Given the description of an element on the screen output the (x, y) to click on. 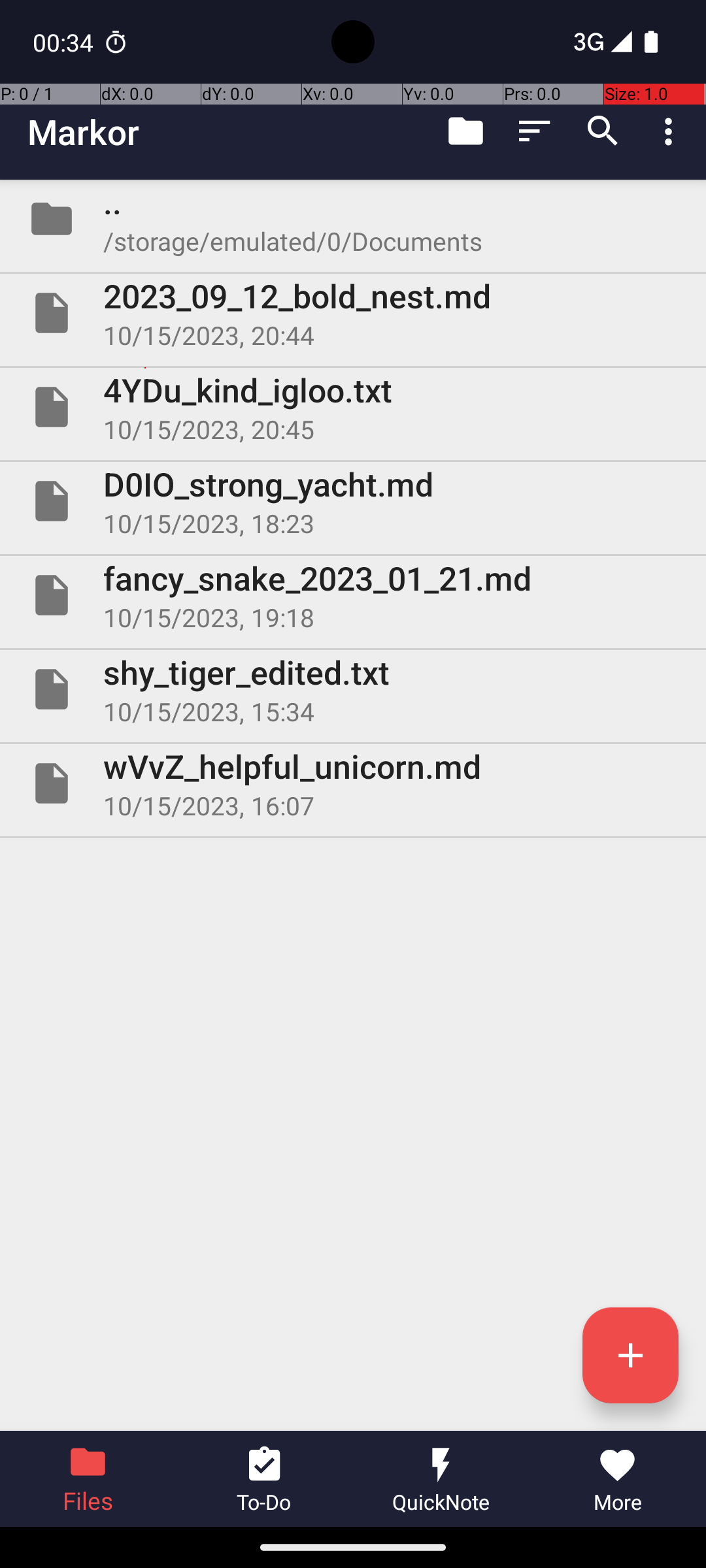
File 2023_09_12_bold_nest.md  Element type: android.widget.LinearLayout (353, 312)
File 4YDu_kind_igloo.txt  Element type: android.widget.LinearLayout (353, 406)
File D0IO_strong_yacht.md  Element type: android.widget.LinearLayout (353, 500)
File fancy_snake_2023_01_21.md  Element type: android.widget.LinearLayout (353, 594)
File shy_tiger_edited.txt  Element type: android.widget.LinearLayout (353, 689)
File wVvZ_helpful_unicorn.md  Element type: android.widget.LinearLayout (353, 783)
00:34 Element type: android.widget.TextView (64, 41)
